Given the description of an element on the screen output the (x, y) to click on. 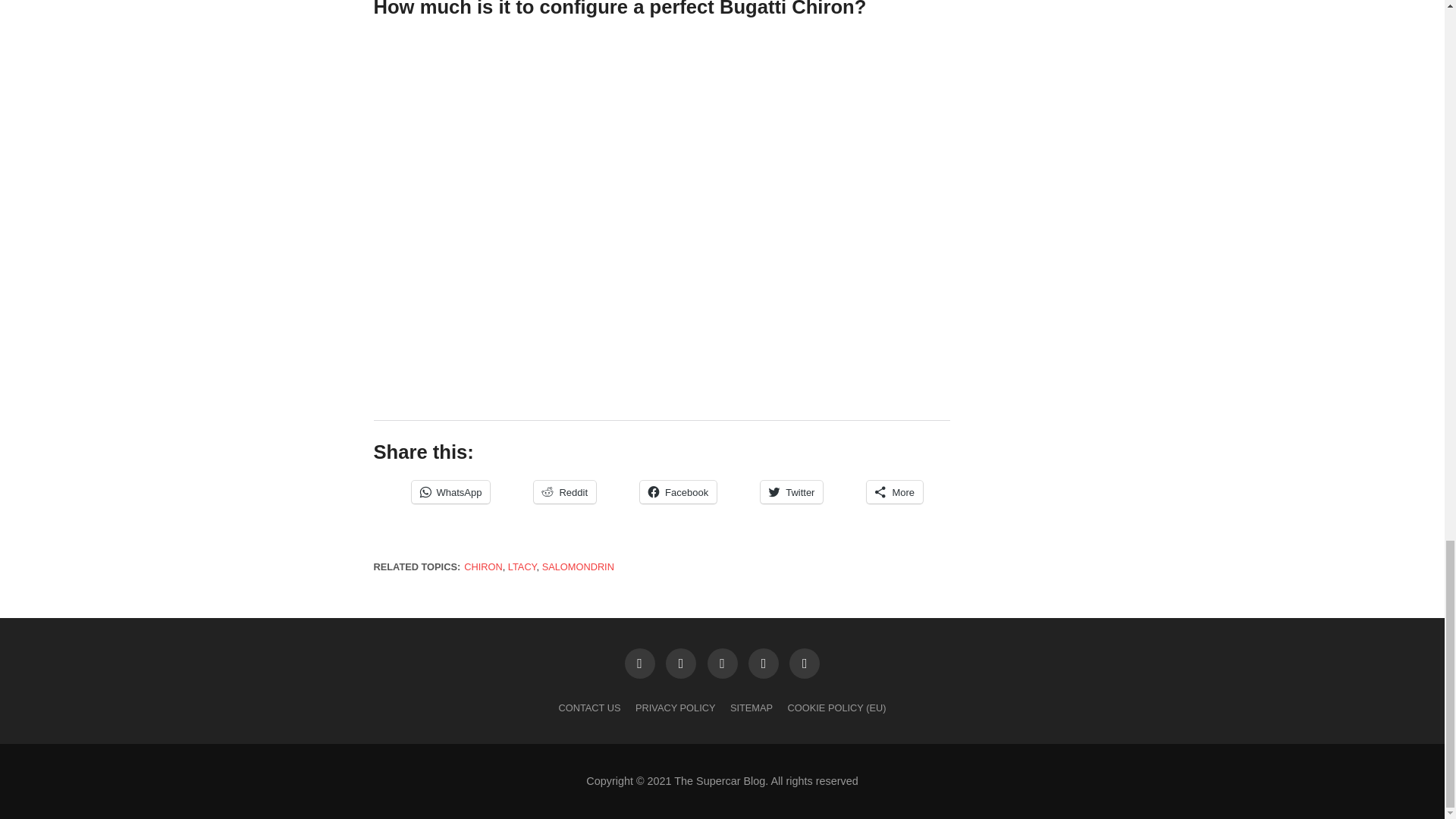
LTACY (522, 566)
SALOMONDRIN (577, 566)
Twitter (791, 491)
Facebook (678, 491)
Click to share on Facebook (678, 491)
WhatsApp (449, 491)
More (894, 491)
Click to share on Twitter (791, 491)
Click to share on WhatsApp (449, 491)
Reddit (564, 491)
